Given the description of an element on the screen output the (x, y) to click on. 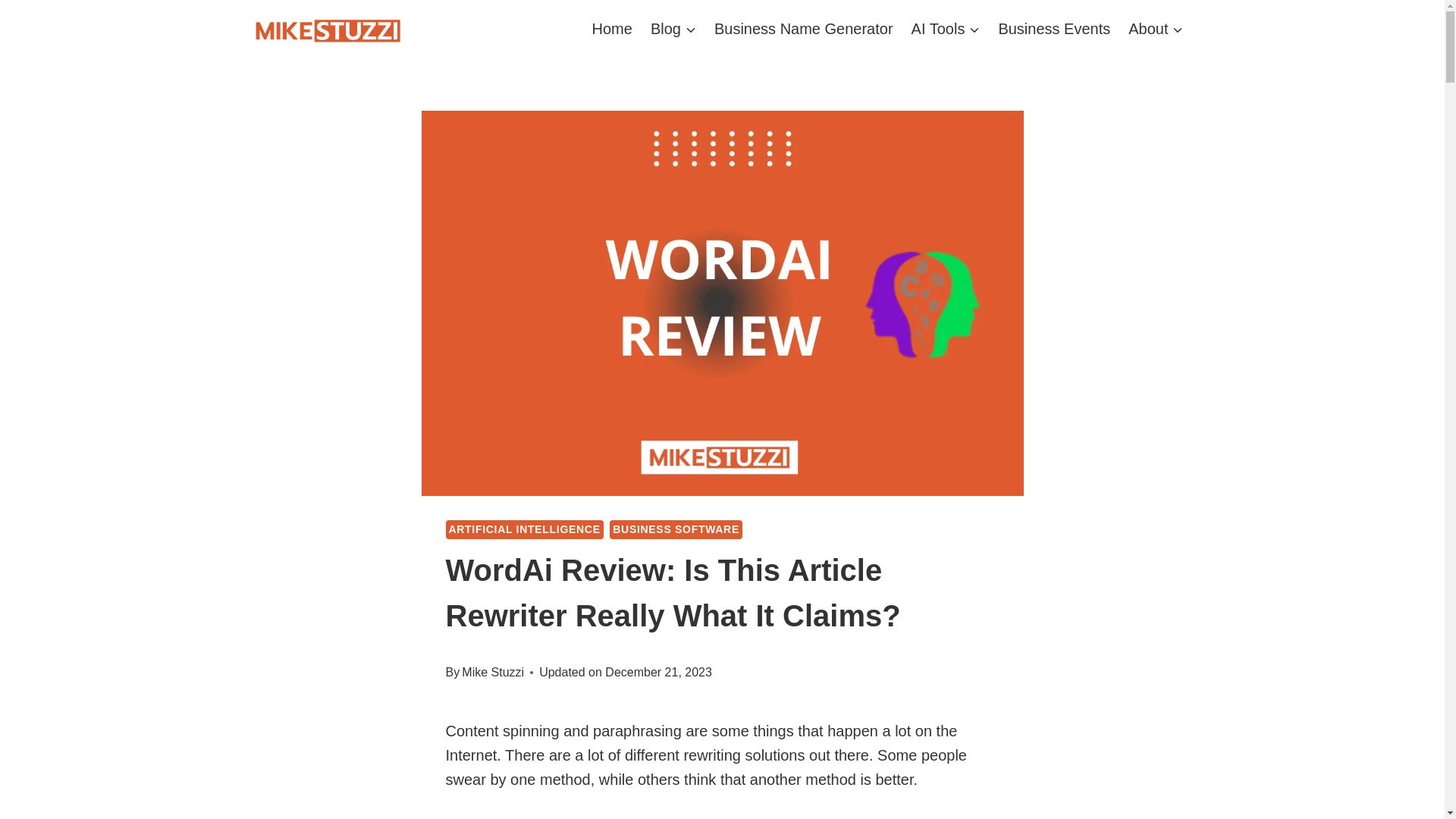
BUSINESS SOFTWARE (676, 529)
About (1155, 28)
Business Name Generator (803, 28)
Blog (673, 28)
Business Events (1053, 28)
Mike Stuzzi (492, 671)
Home (612, 28)
AI Tools (946, 28)
ARTIFICIAL INTELLIGENCE (524, 529)
